Given the description of an element on the screen output the (x, y) to click on. 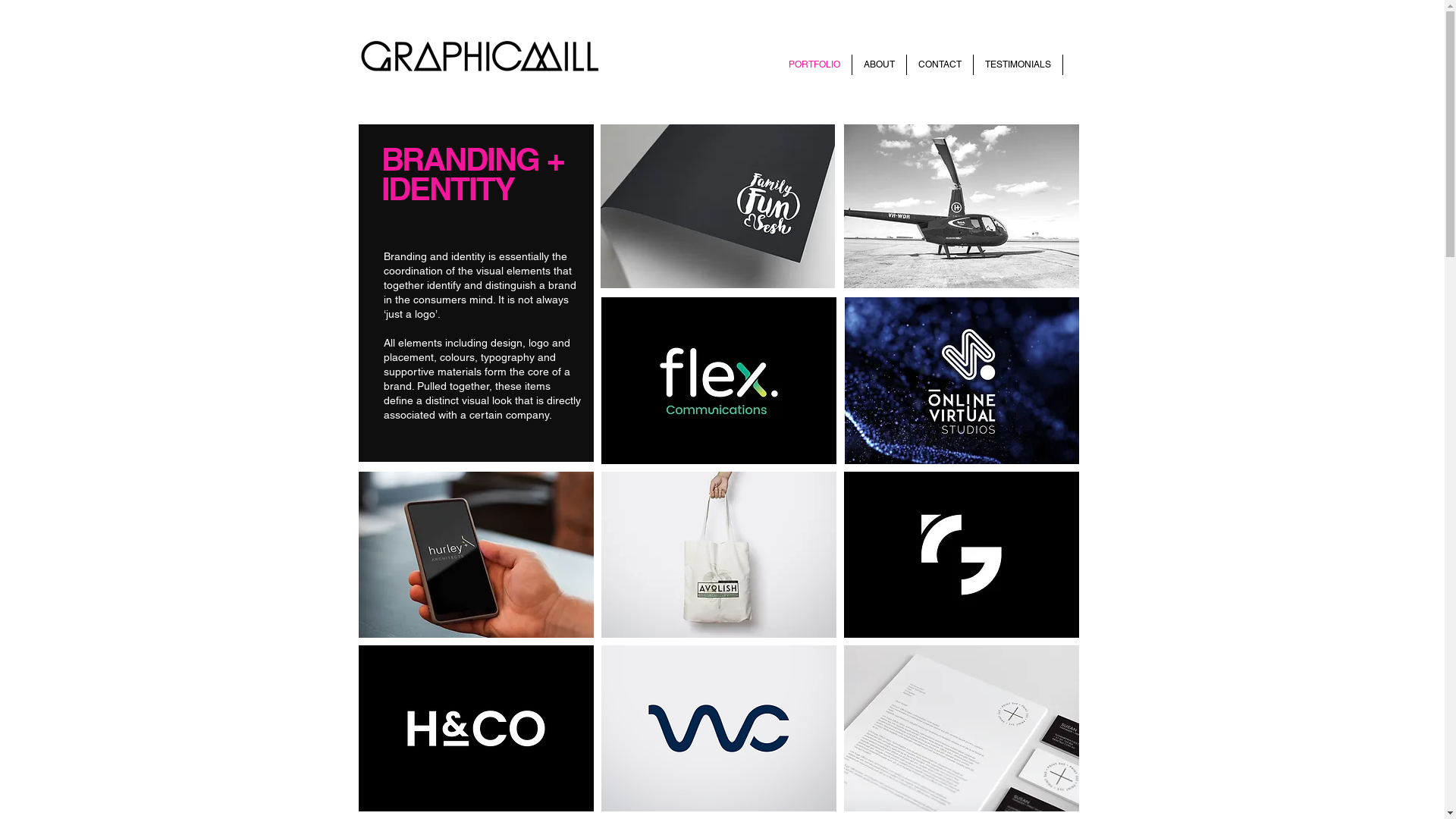
CONTACT Element type: text (939, 64)
ABOUT Element type: text (879, 64)
TESTIMONIALS Element type: text (1017, 64)
PORTFOLIO Element type: text (813, 64)
